Given the description of an element on the screen output the (x, y) to click on. 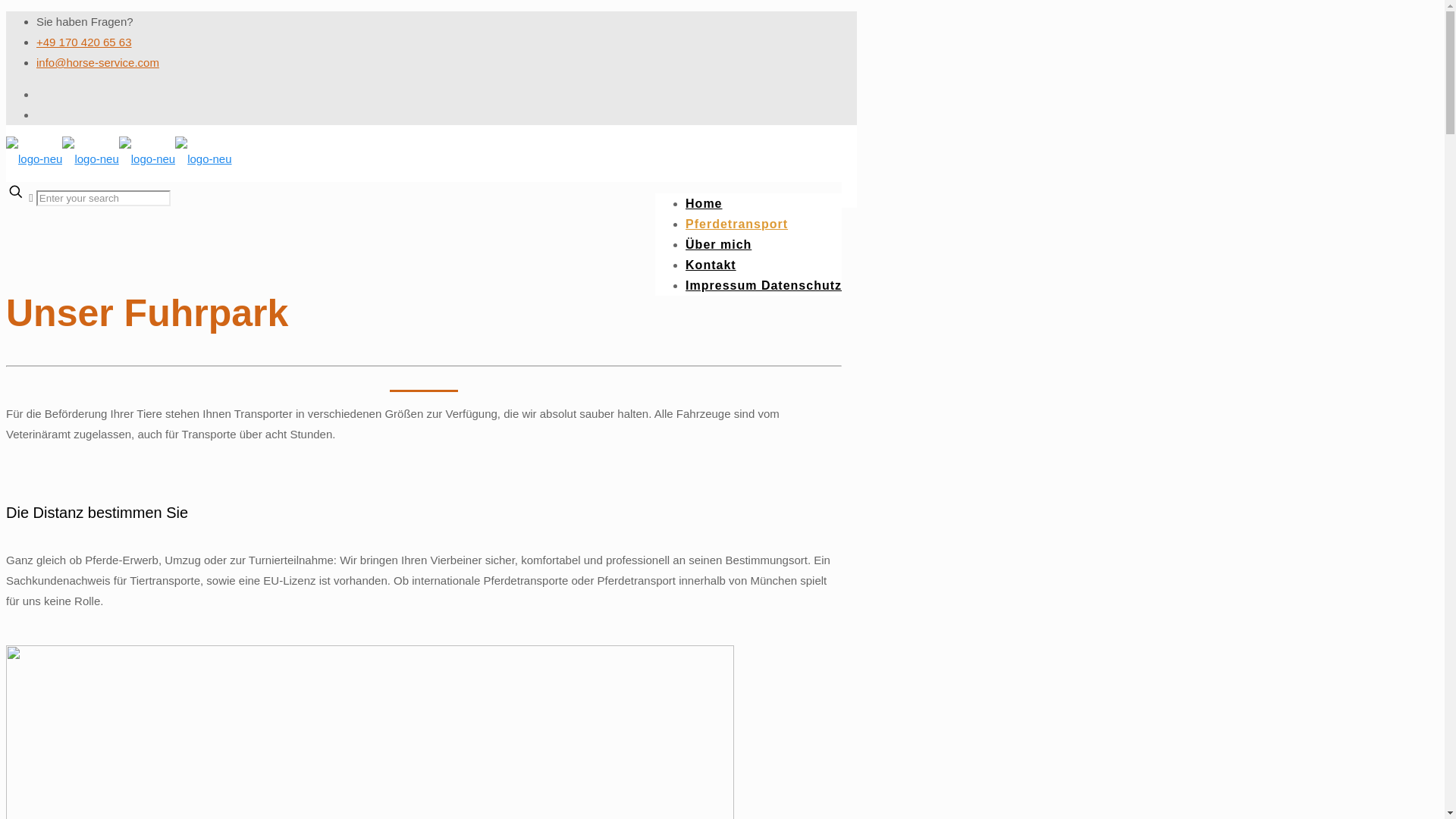
Kontakt Element type: text (710, 264)
+49 170 420 65 63 Element type: text (83, 41)
info@horse-service.com Element type: text (97, 62)
Pferdetransport Element type: text (736, 223)
Horse Service Element type: hover (119, 158)
Home Element type: text (703, 203)
Impressum Datenschutz Element type: text (763, 285)
